Given the description of an element on the screen output the (x, y) to click on. 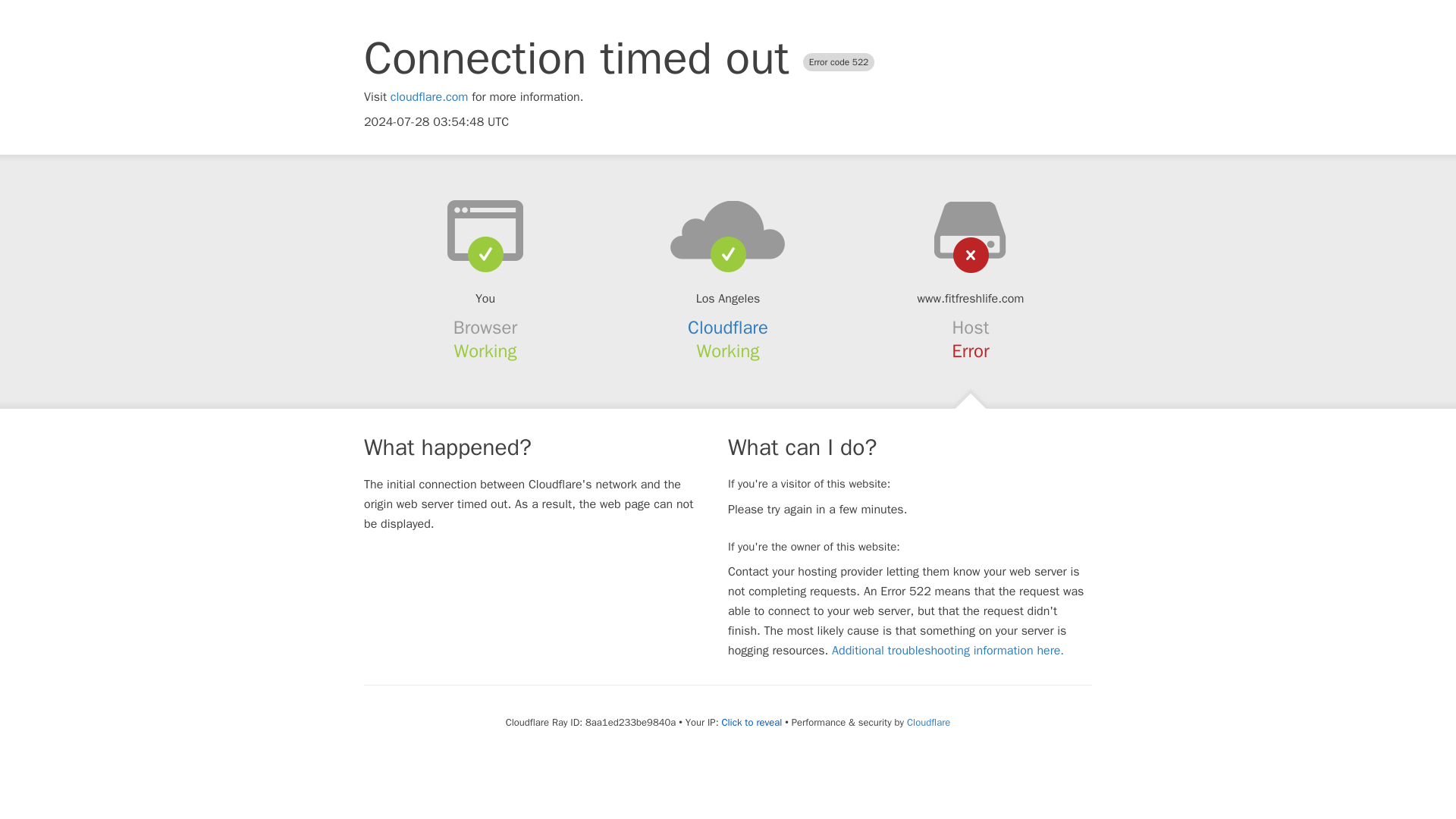
Cloudflare (928, 721)
Additional troubleshooting information here. (947, 650)
cloudflare.com (429, 96)
Cloudflare (727, 327)
Click to reveal (750, 722)
